Given the description of an element on the screen output the (x, y) to click on. 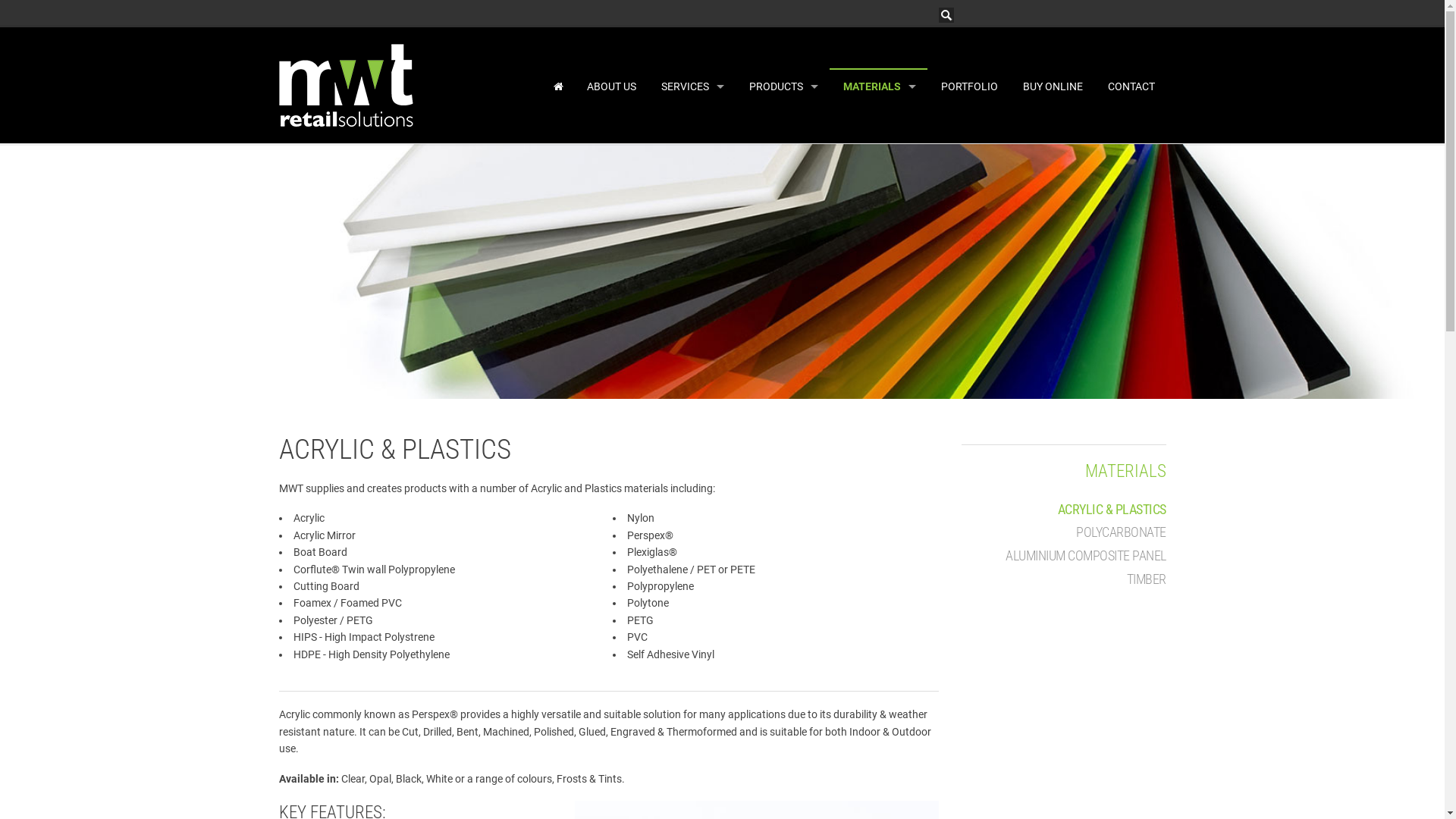
SERVICES Element type: text (691, 85)
ACRYLIC & PLASTICS Element type: text (1111, 509)
MATERIALS Element type: text (878, 85)
ALUMINIUM COMPOSITE PANEL Element type: text (1085, 555)
CONTACT Element type: text (1129, 85)
PRODUCTS Element type: text (782, 85)
BUY ONLINE Element type: text (1050, 85)
MATERIALS Element type: text (1124, 471)
TIMBER Element type: text (1146, 578)
POLYCARBONATE Element type: text (1121, 531)
PORTFOLIO Element type: text (967, 85)
ABOUT US Element type: text (610, 85)
